Given the description of an element on the screen output the (x, y) to click on. 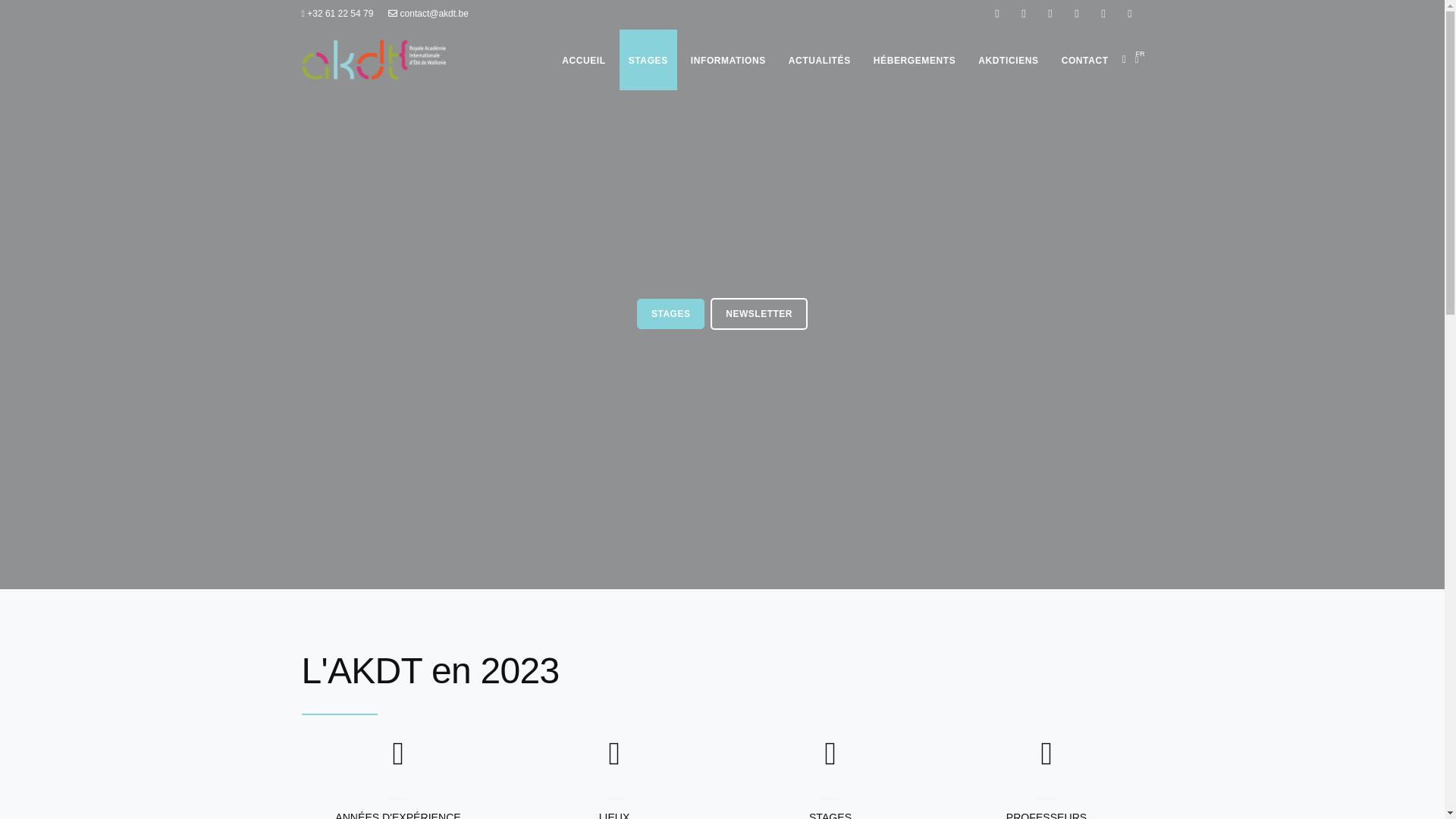
STAGES Element type: text (670, 313)
INFORMATIONS Element type: text (728, 60)
FR Element type: text (1137, 59)
AKDTICIENS Element type: text (1008, 60)
CONTACT Element type: text (1084, 60)
ACCUEIL Element type: text (583, 60)
NEWSLETTER Element type: text (758, 313)
STAGES Element type: text (648, 60)
